Given the description of an element on the screen output the (x, y) to click on. 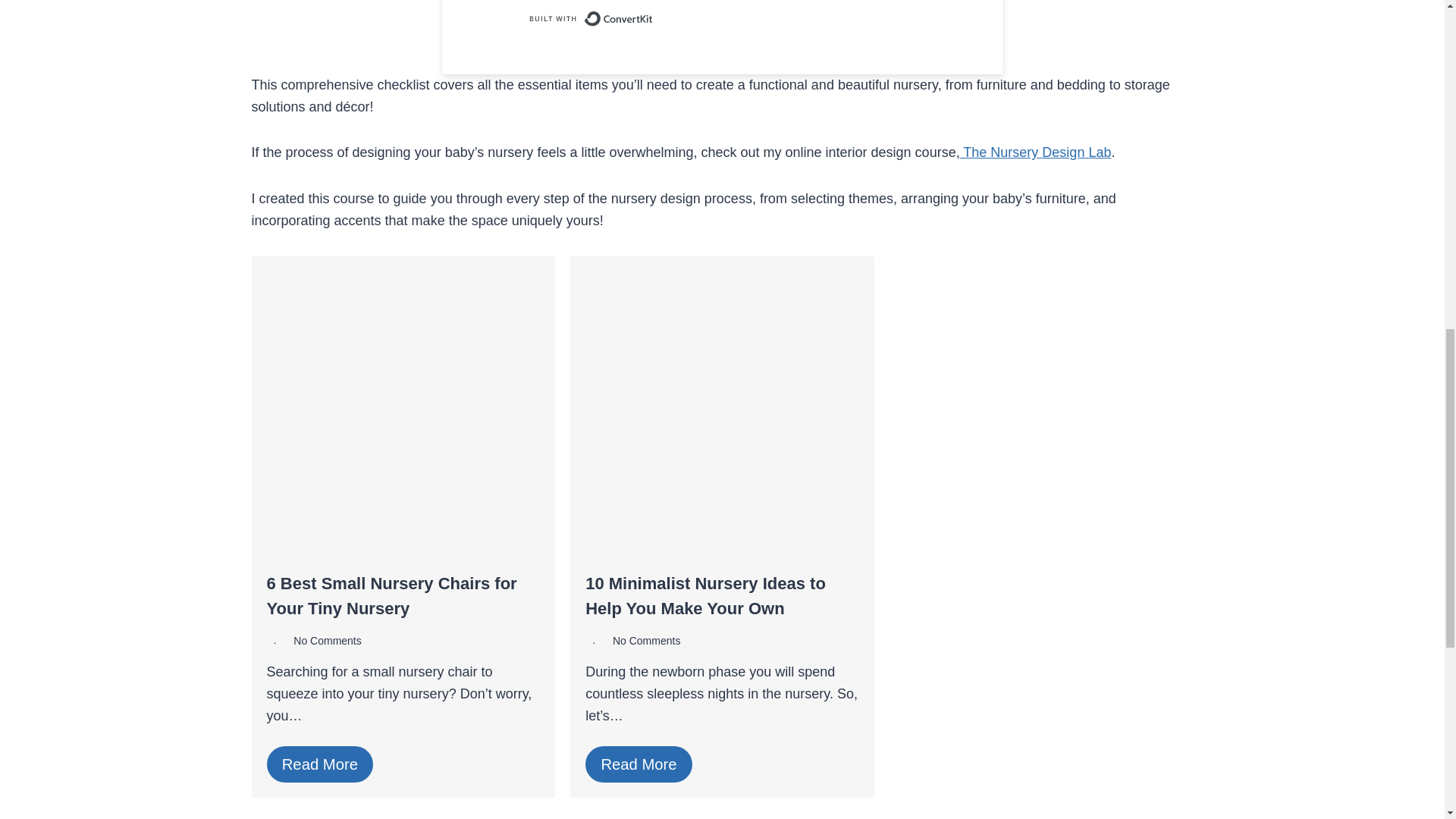
6 Best Small Nursery Chairs for Your Tiny Nursery (391, 596)
Read More (320, 764)
Built with ConvertKit (590, 18)
The Nursery Design Lab (1035, 151)
Read More (639, 764)
10 Minimalist Nursery Ideas to Help You Make Your Own (705, 596)
